Given the description of an element on the screen output the (x, y) to click on. 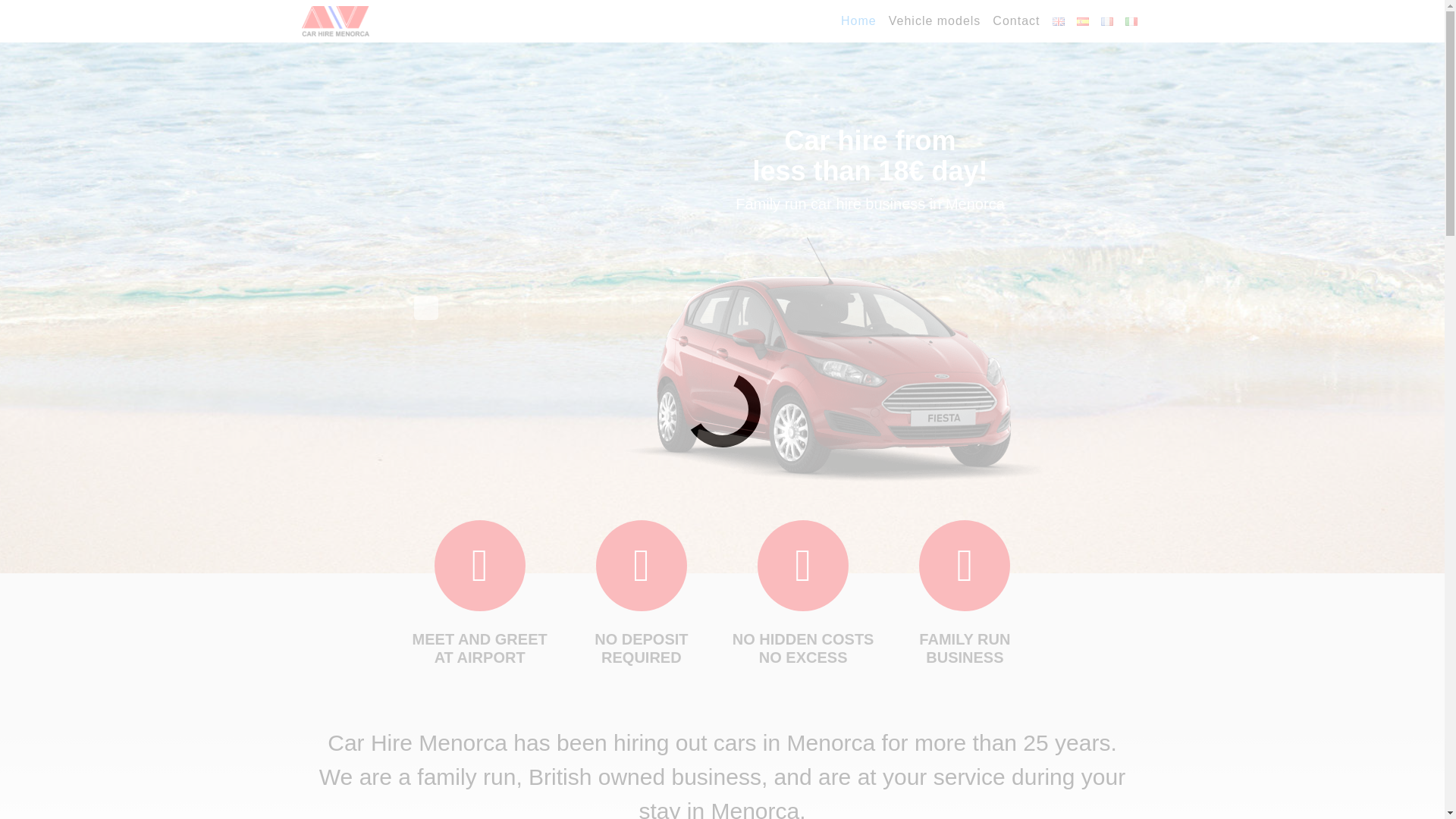
Home (858, 20)
Home (858, 20)
Contact (1016, 20)
Vehicle models (934, 20)
Vehicle models (934, 20)
Contact (1016, 20)
